Given the description of an element on the screen output the (x, y) to click on. 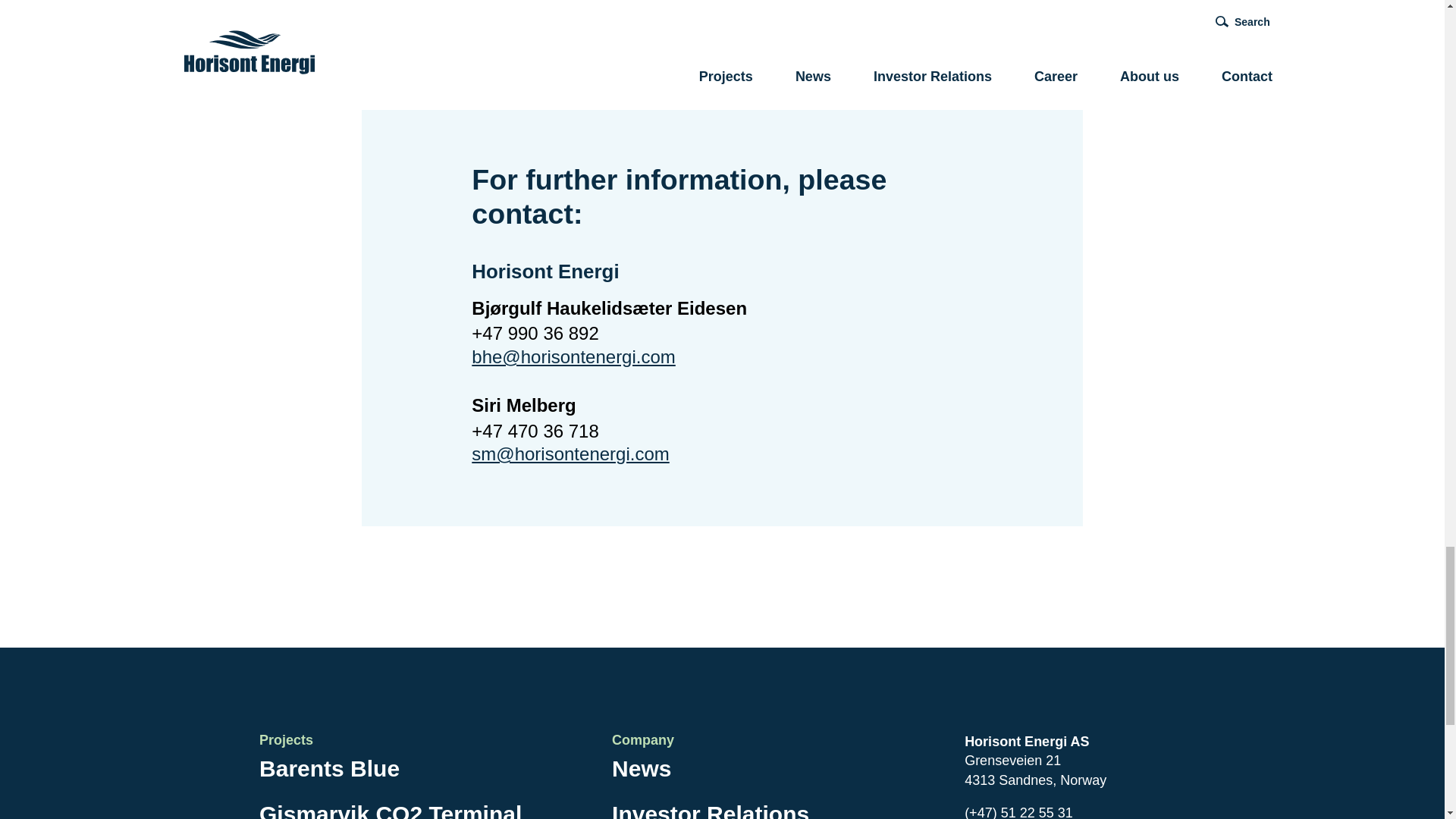
Investor Relations (710, 806)
Gismarvik CO2 Terminal (390, 806)
Barents Blue (328, 771)
News (641, 771)
